Given the description of an element on the screen output the (x, y) to click on. 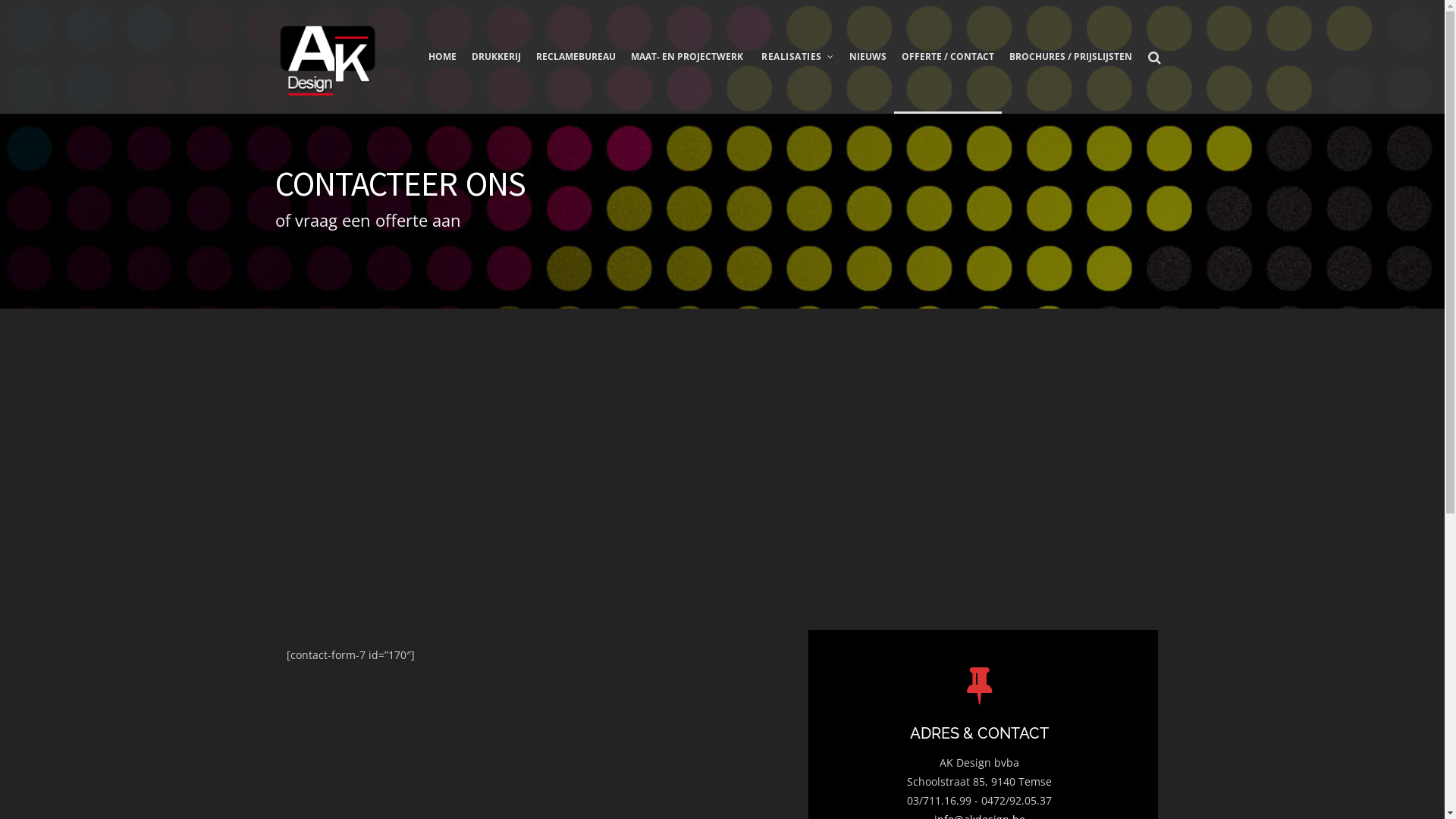
MAAT- EN PROJECTWERK Element type: text (686, 79)
REALISATIES Element type: text (795, 79)
BROCHURES / PRIJSLIJSTEN Element type: text (1070, 79)
DRUKKERIJ Element type: text (496, 79)
NIEUWS Element type: text (867, 79)
OFFERTE / CONTACT Element type: text (947, 79)
RECLAMEBUREAU Element type: text (575, 79)
HOME Element type: text (442, 79)
